Given the description of an element on the screen output the (x, y) to click on. 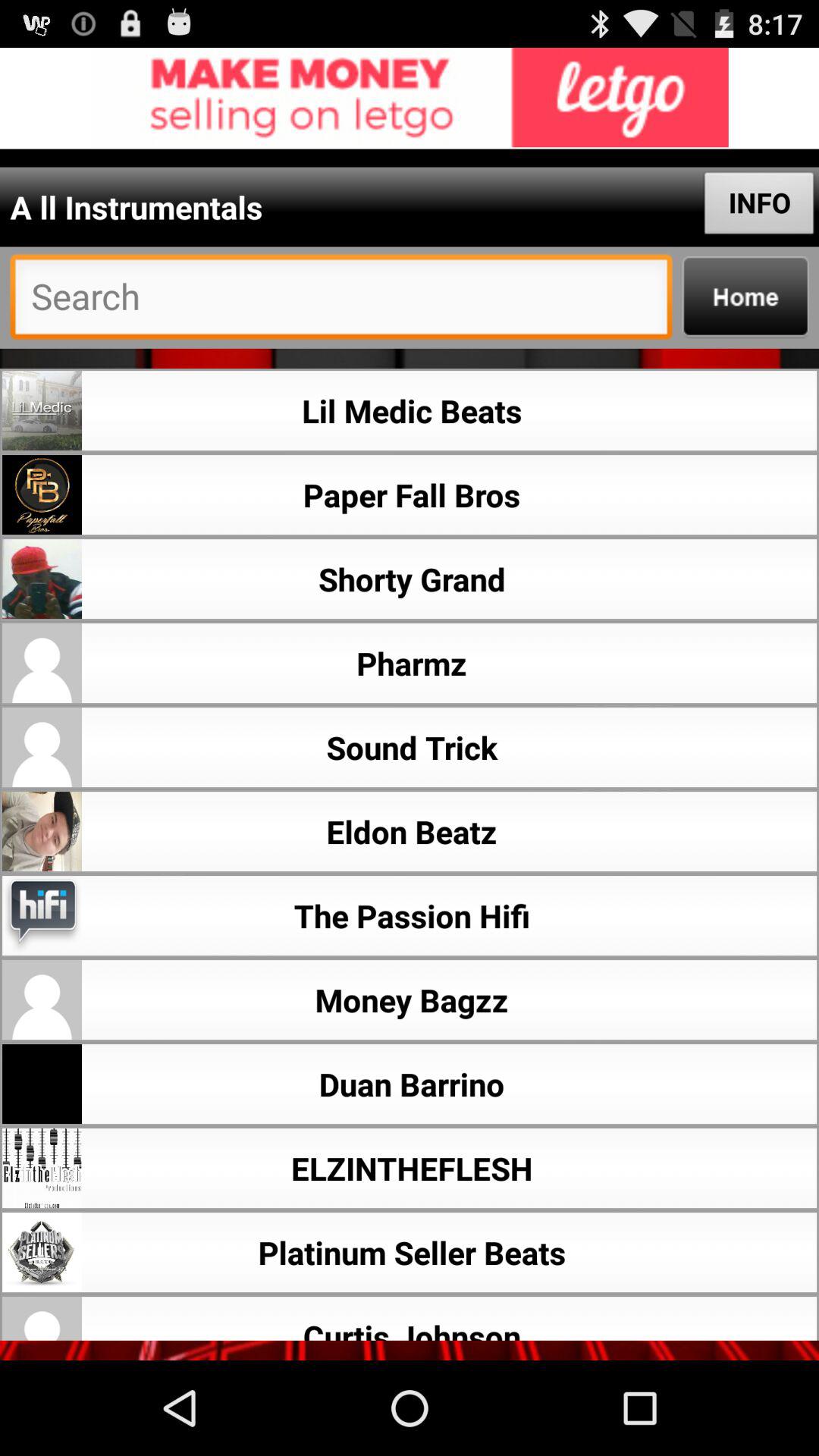
go to advertisement (409, 98)
